Given the description of an element on the screen output the (x, y) to click on. 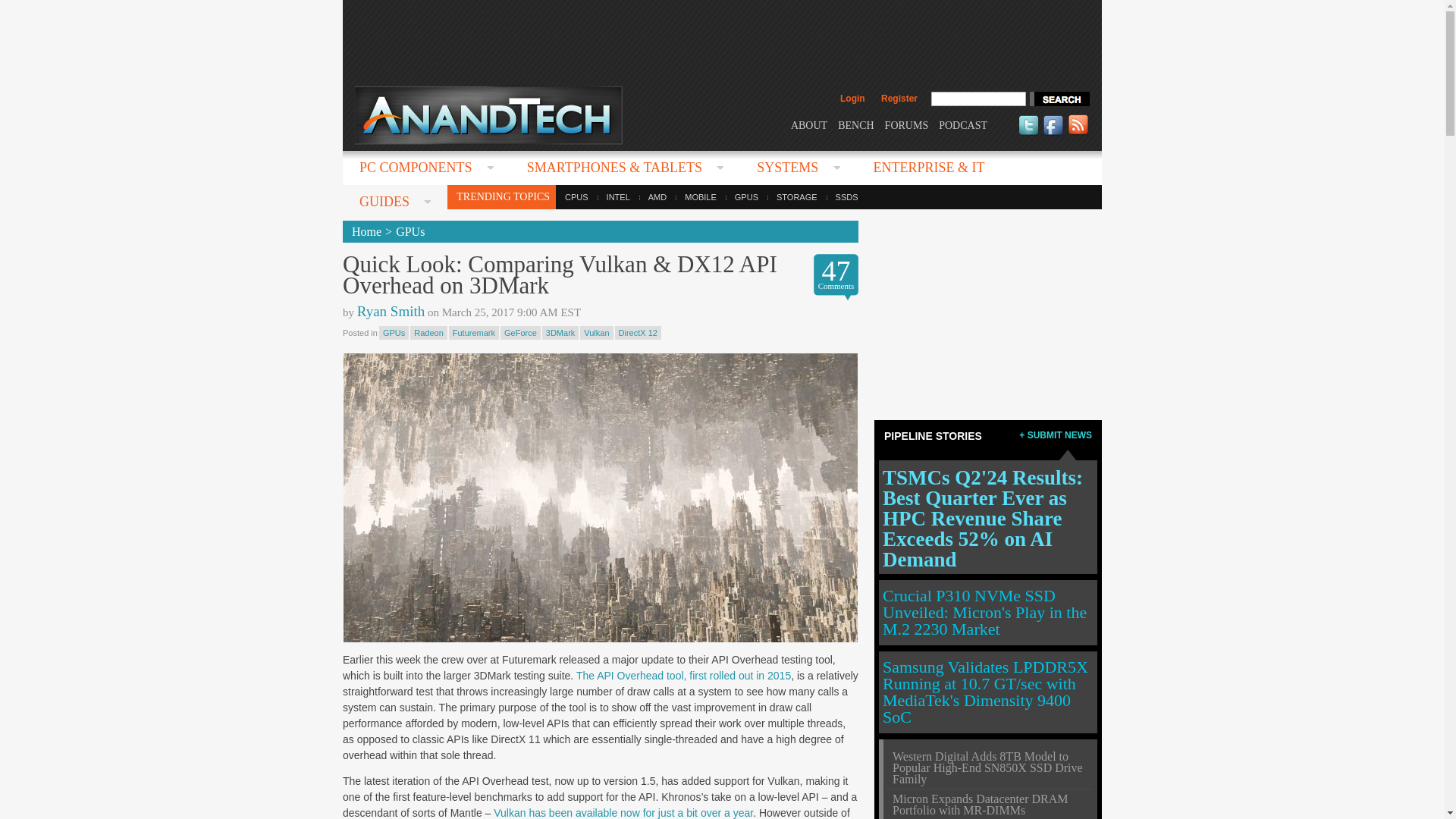
ABOUT (808, 125)
Register (898, 98)
search (1059, 98)
PODCAST (963, 125)
BENCH (855, 125)
Login (852, 98)
search (1059, 98)
search (1059, 98)
FORUMS (906, 125)
